Given the description of an element on the screen output the (x, y) to click on. 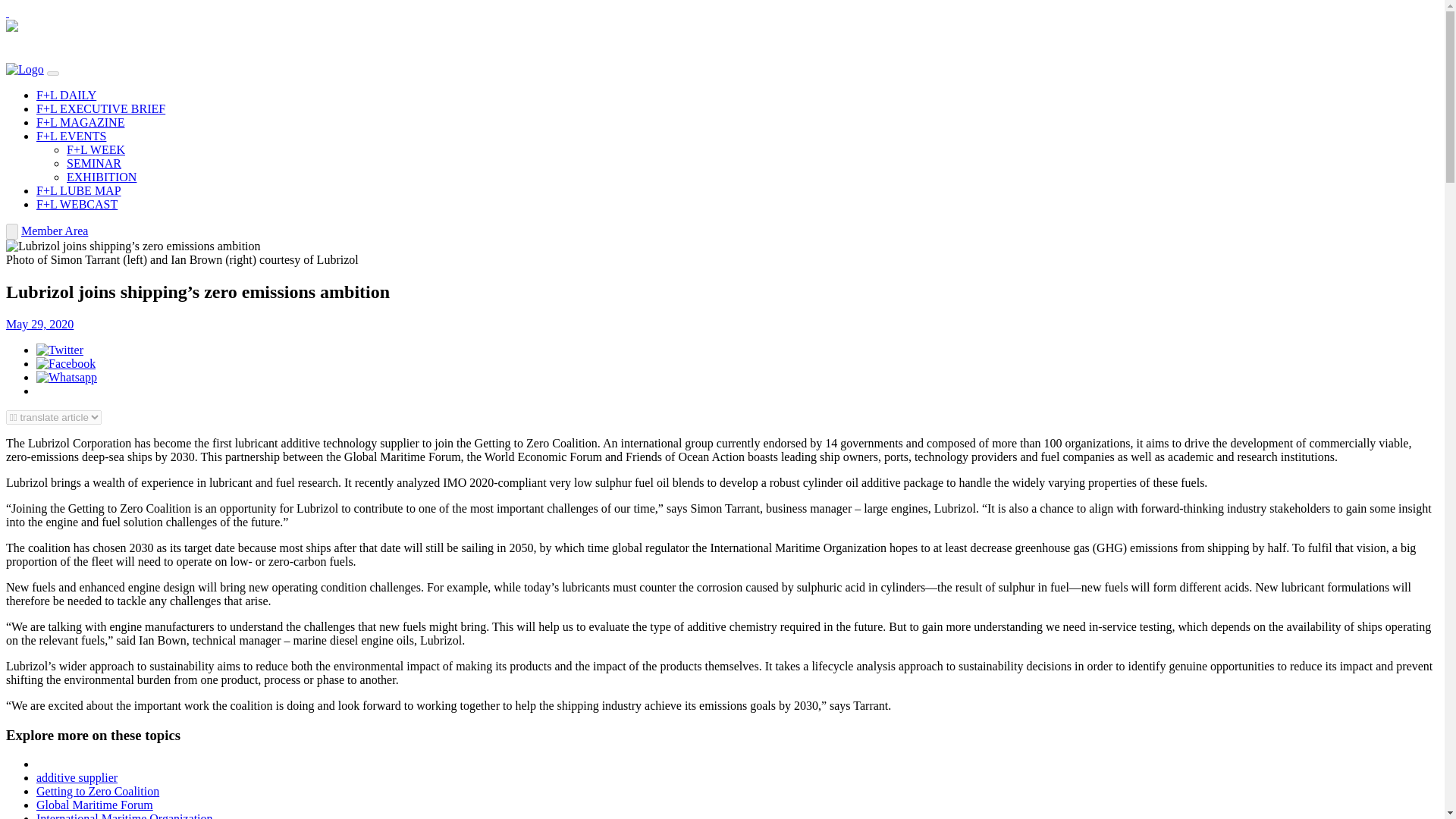
EXHIBITION (101, 176)
Getting to Zero Coalition (97, 790)
May 29, 2020 (39, 323)
Member Area (54, 230)
International Maritime Organization (124, 815)
SEMINAR (93, 163)
Global Maritime Forum (94, 804)
additive supplier (76, 777)
